Given the description of an element on the screen output the (x, y) to click on. 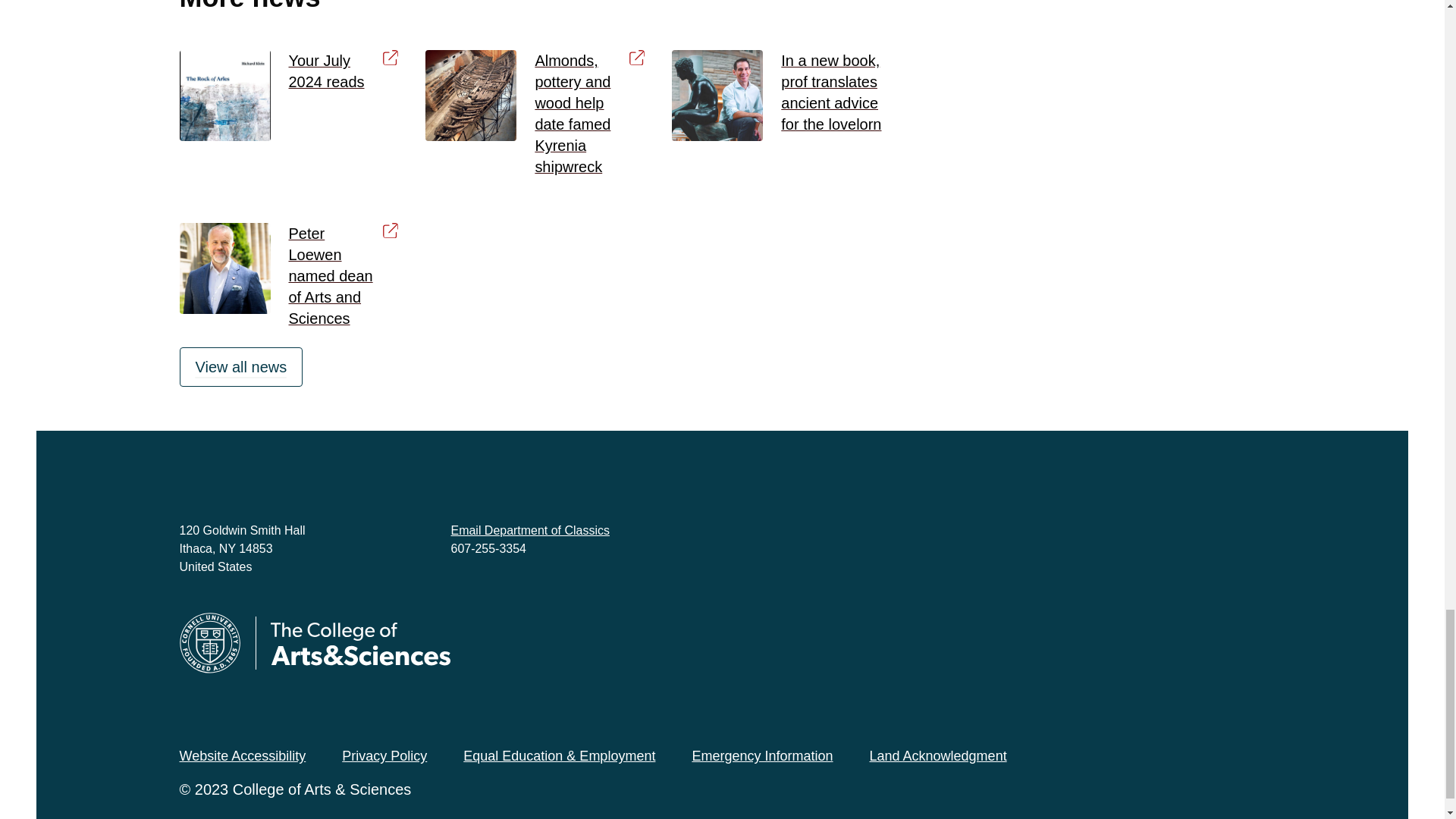
Almonds, pottery and wood help date famed Kyrenia shipwreck (589, 113)
Cornell University (209, 642)
Peter Loewen named dean of Arts and Sciences (342, 275)
Your July 2024 reads (342, 70)
